Given the description of an element on the screen output the (x, y) to click on. 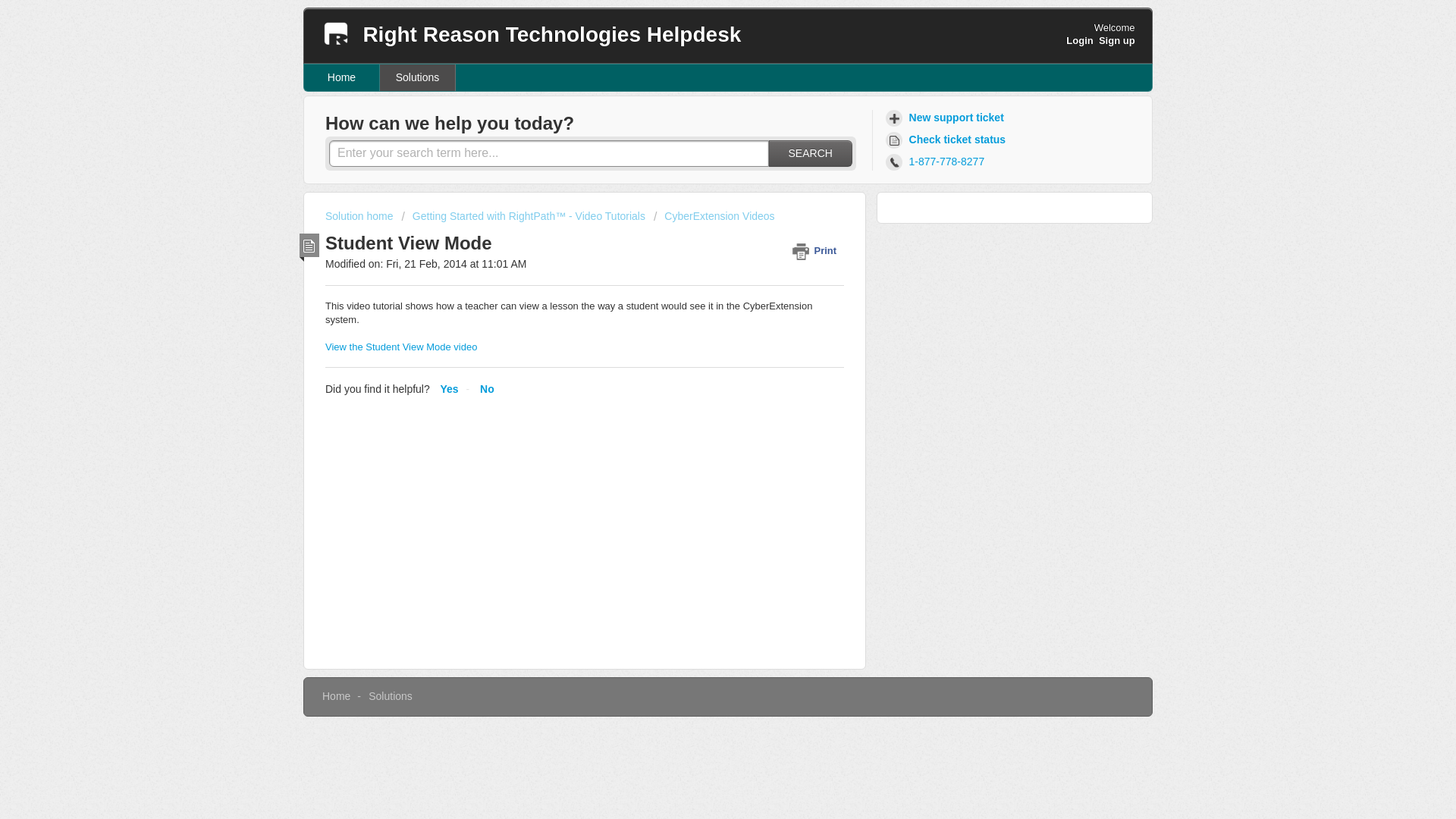
Print (818, 250)
1-877-778-8277 (937, 161)
View the Student View Mode video (400, 346)
Login (1079, 40)
Solutions (390, 695)
CyberExtension Videos (713, 215)
Print this Article (818, 250)
Check ticket status (947, 139)
New support ticket (946, 117)
Home (335, 695)
Check ticket status (947, 139)
Solutions (417, 77)
Solution home (360, 215)
Home (342, 77)
Sign up (1117, 40)
